Given the description of an element on the screen output the (x, y) to click on. 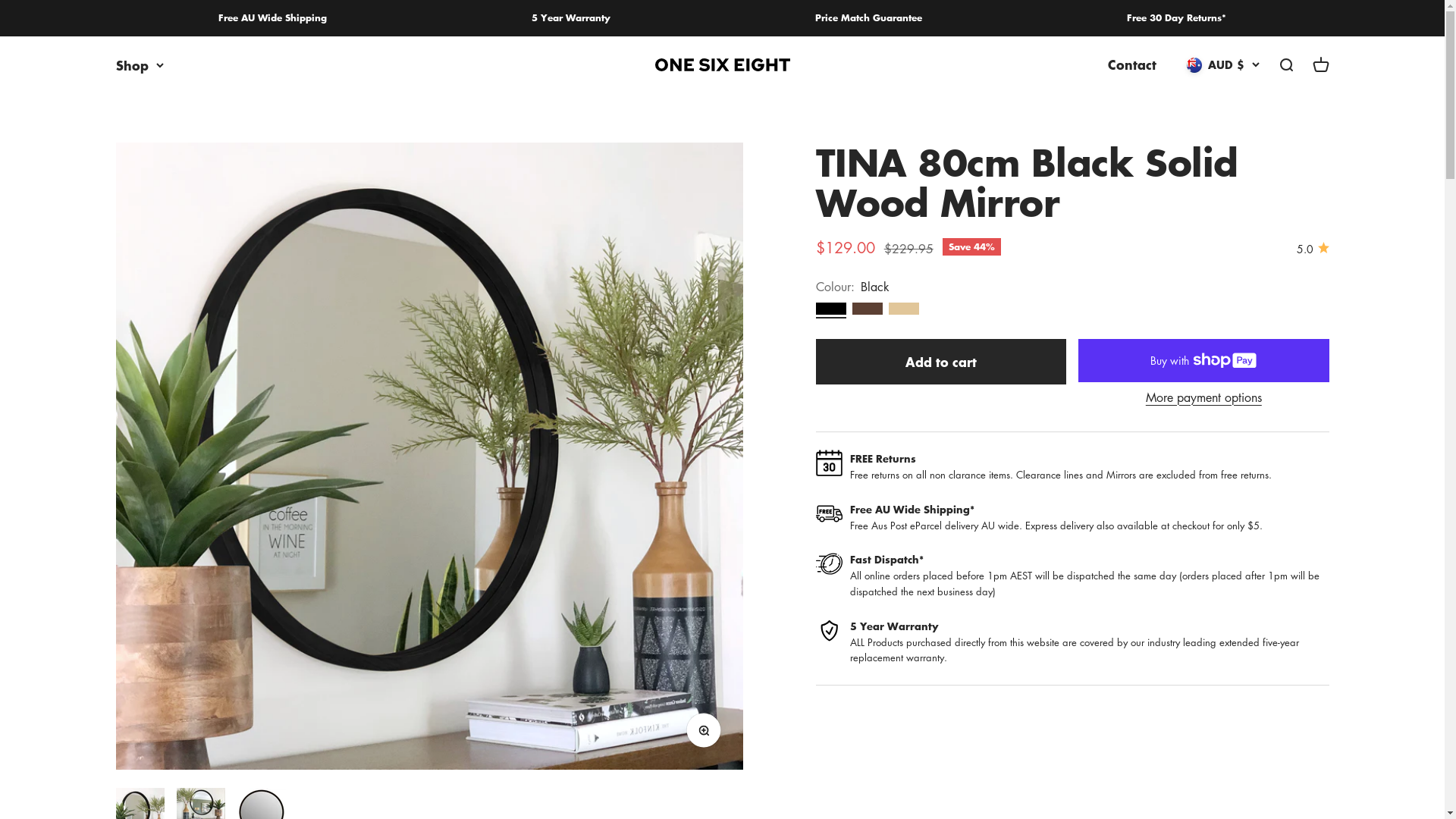
Dark Wood Element type: text (867, 308)
Add to cart Element type: text (940, 361)
Black Element type: text (830, 308)
More payment options Element type: text (1203, 397)
Open cart
0 Element type: text (1319, 64)
Open search Element type: text (1285, 64)
5.0 Element type: text (1312, 248)
One Six Eight London Element type: text (721, 65)
Free 30 Day Returns* Element type: text (1176, 17)
FREE Returns Element type: text (883, 458)
5 Year Warranty Element type: text (570, 17)
5 Year Warranty Element type: text (894, 625)
Contact Element type: text (1131, 63)
Zoom Element type: text (707, 734)
Light Wood Element type: text (903, 308)
Price Match Guarantee Element type: text (868, 17)
Fast Dispatch* Element type: text (886, 559)
Free AU Wide Shipping Element type: text (272, 17)
AUD $ Element type: text (1222, 64)
Free AU Wide Shipping* Element type: text (912, 509)
